Given the description of an element on the screen output the (x, y) to click on. 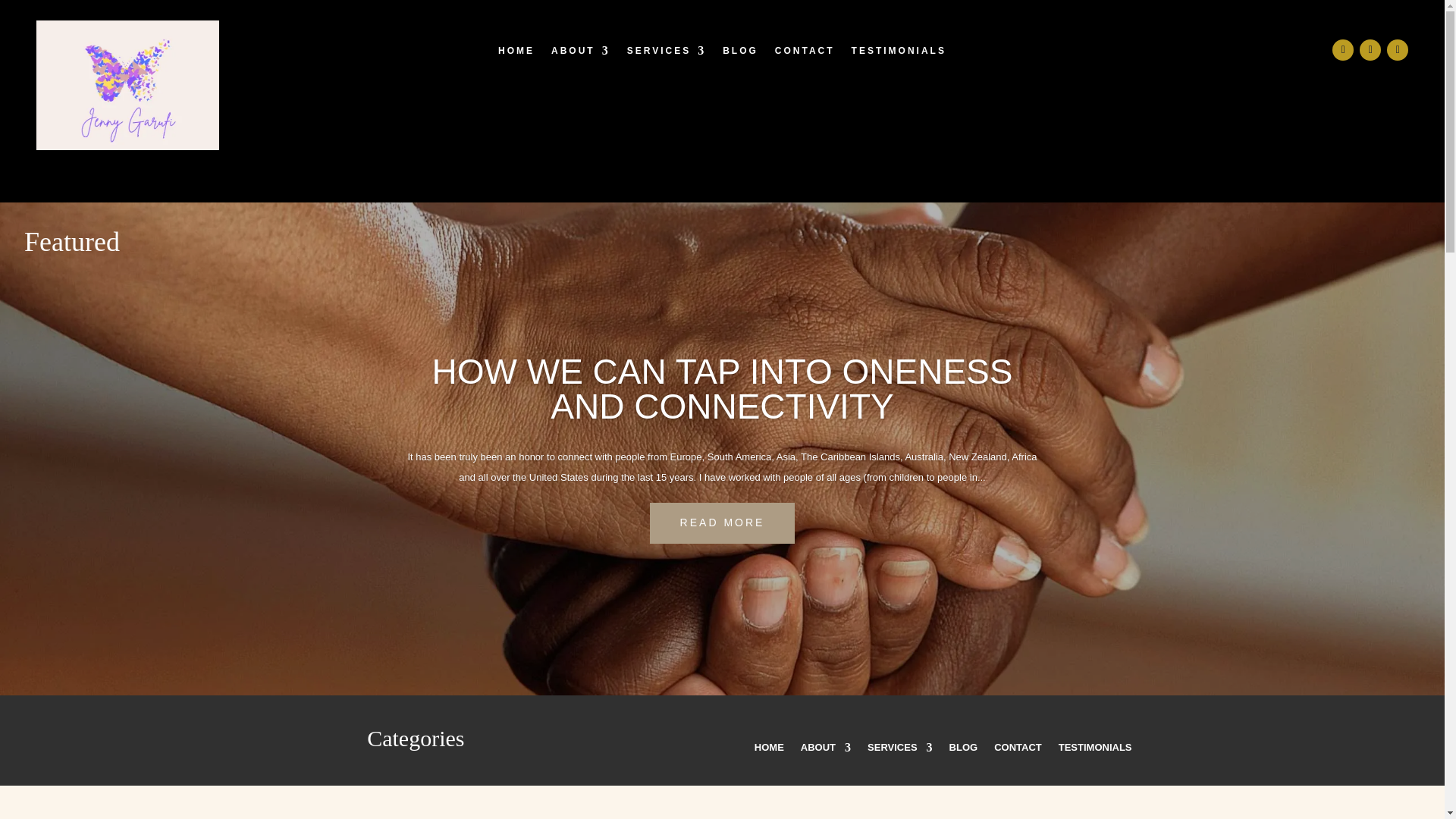
ABOUT (580, 53)
Butterfly Beauty Studio Logo Design (127, 145)
Follow on Youtube (1369, 49)
HOW WE CAN TAP INTO ONENESS AND CONNECTIVITY (722, 388)
HOME (515, 53)
SERVICES (900, 750)
Follow on Instagram (1397, 49)
CONTACT (804, 53)
HOME (769, 750)
SERVICES (666, 53)
READ MORE (721, 522)
Follow on Facebook (1343, 49)
BLOG (740, 53)
ABOUT (825, 750)
TESTIMONIALS (898, 53)
